Given the description of an element on the screen output the (x, y) to click on. 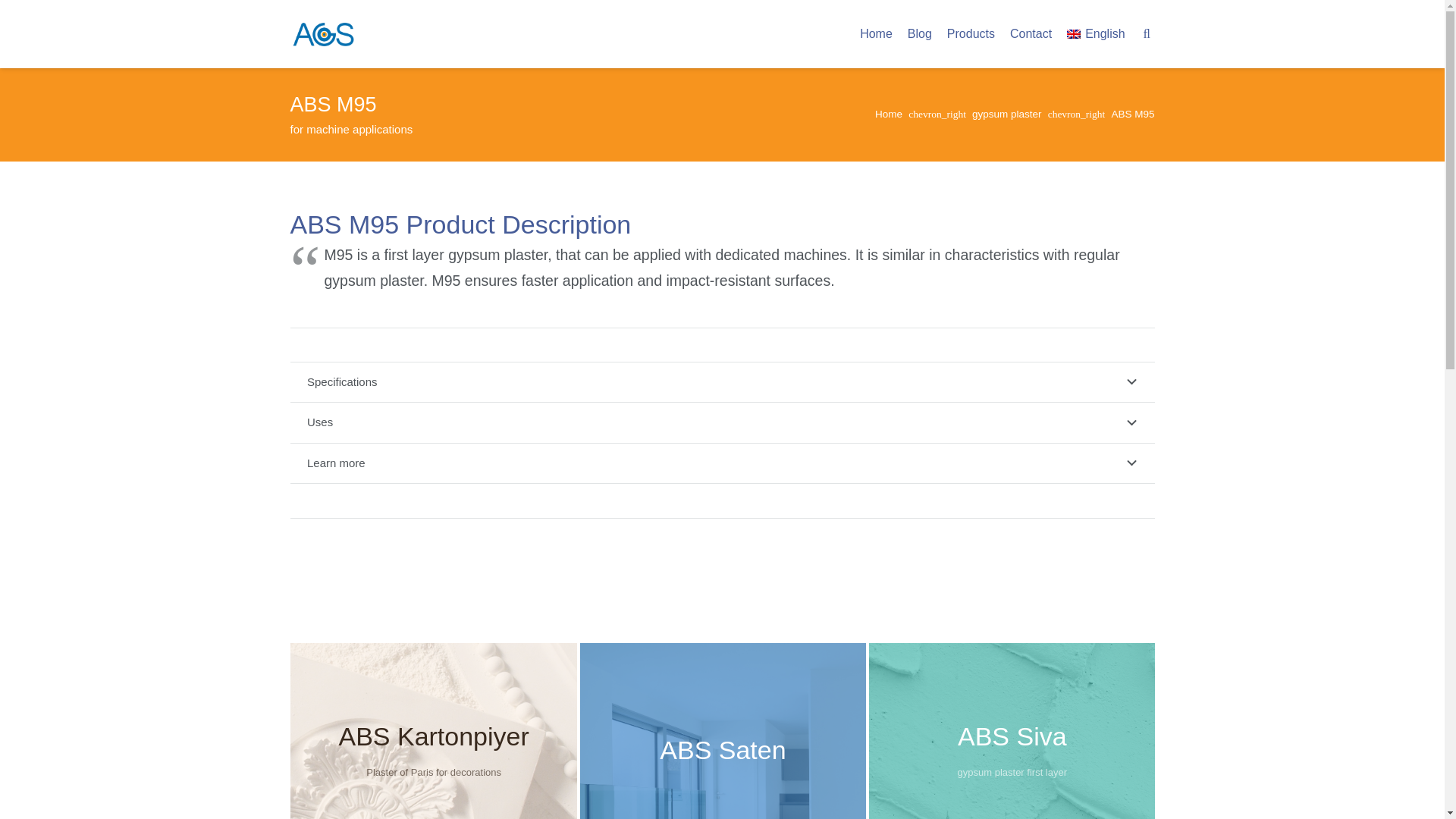
English (1095, 33)
Learn more (721, 463)
gypsum plaster (1007, 113)
Home (888, 113)
English (721, 422)
ABS M95 (1095, 33)
Uses (1132, 113)
Products (721, 422)
Specifications (971, 33)
